Given the description of an element on the screen output the (x, y) to click on. 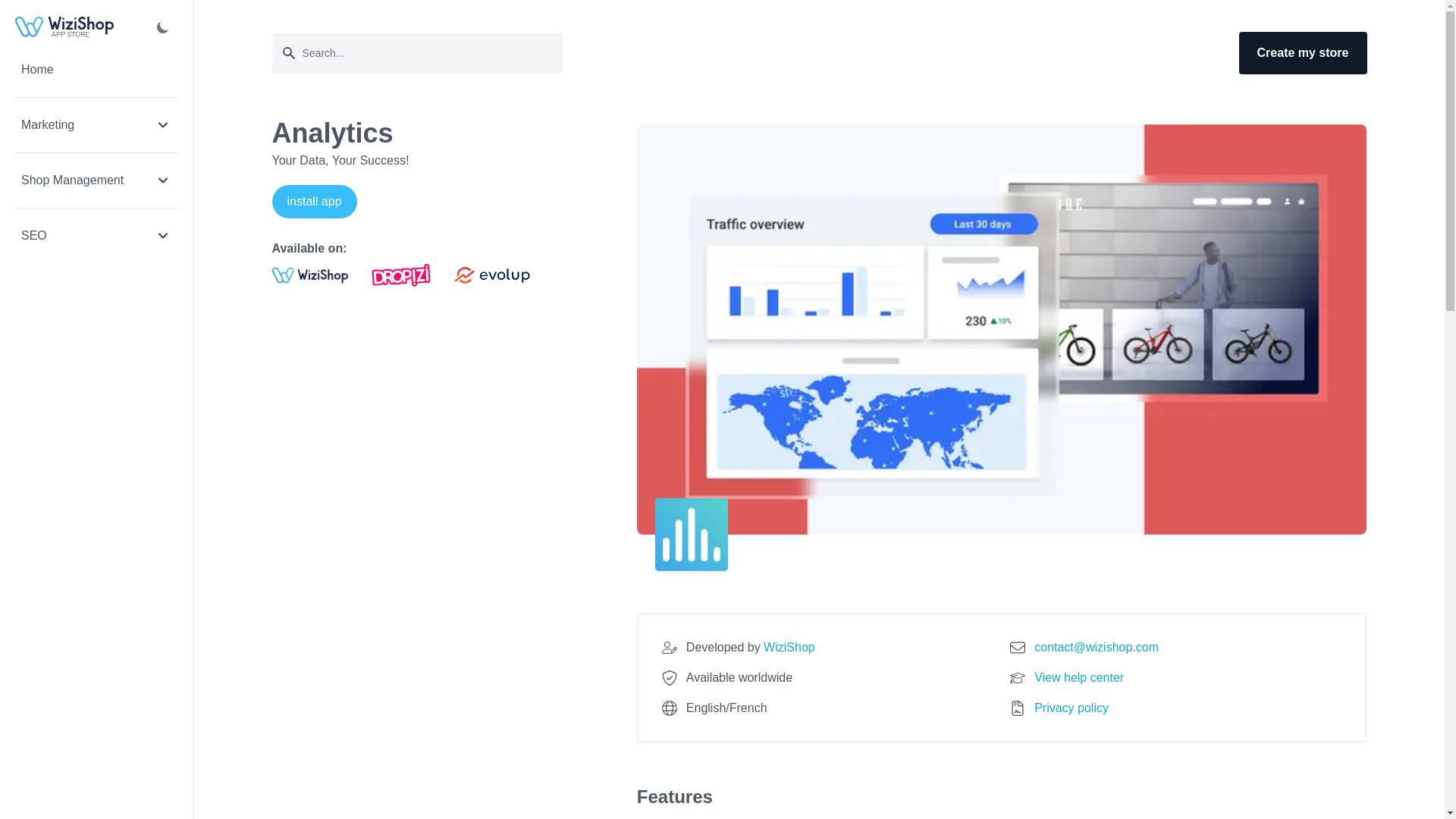
 WiziShop (787, 646)
View help center (1078, 678)
Marketing (95, 124)
SEO (95, 235)
install app (313, 201)
SEO (95, 235)
Home (95, 69)
Shop Management (95, 180)
Marketing (95, 124)
Privacy policy (1070, 708)
Create my store (1303, 52)
install app (316, 201)
Shop Management (95, 180)
